Given the description of an element on the screen output the (x, y) to click on. 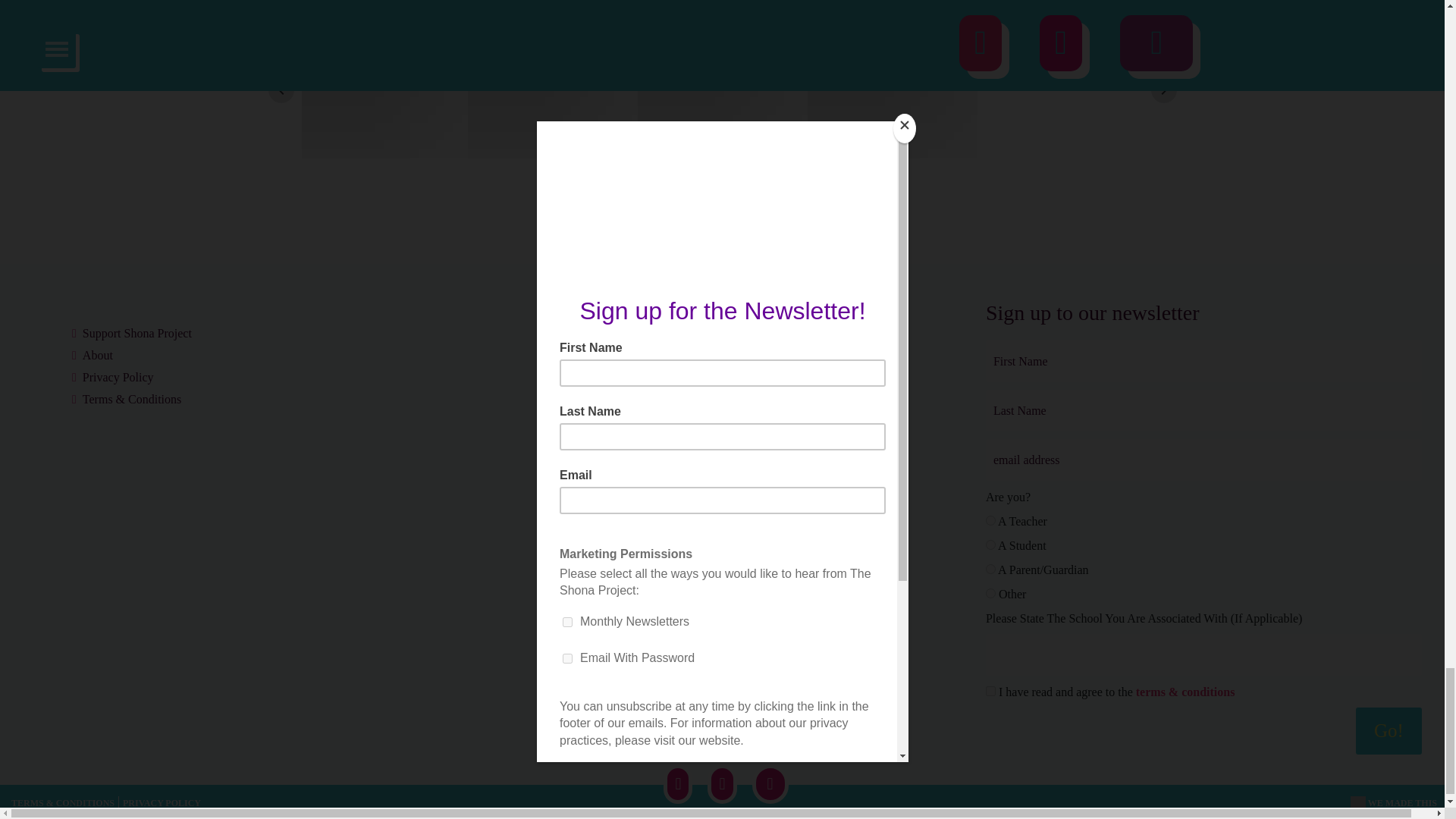
1 (990, 691)
Go! (1388, 730)
A Student (990, 544)
A Teacher (990, 520)
Other (990, 593)
